Given the description of an element on the screen output the (x, y) to click on. 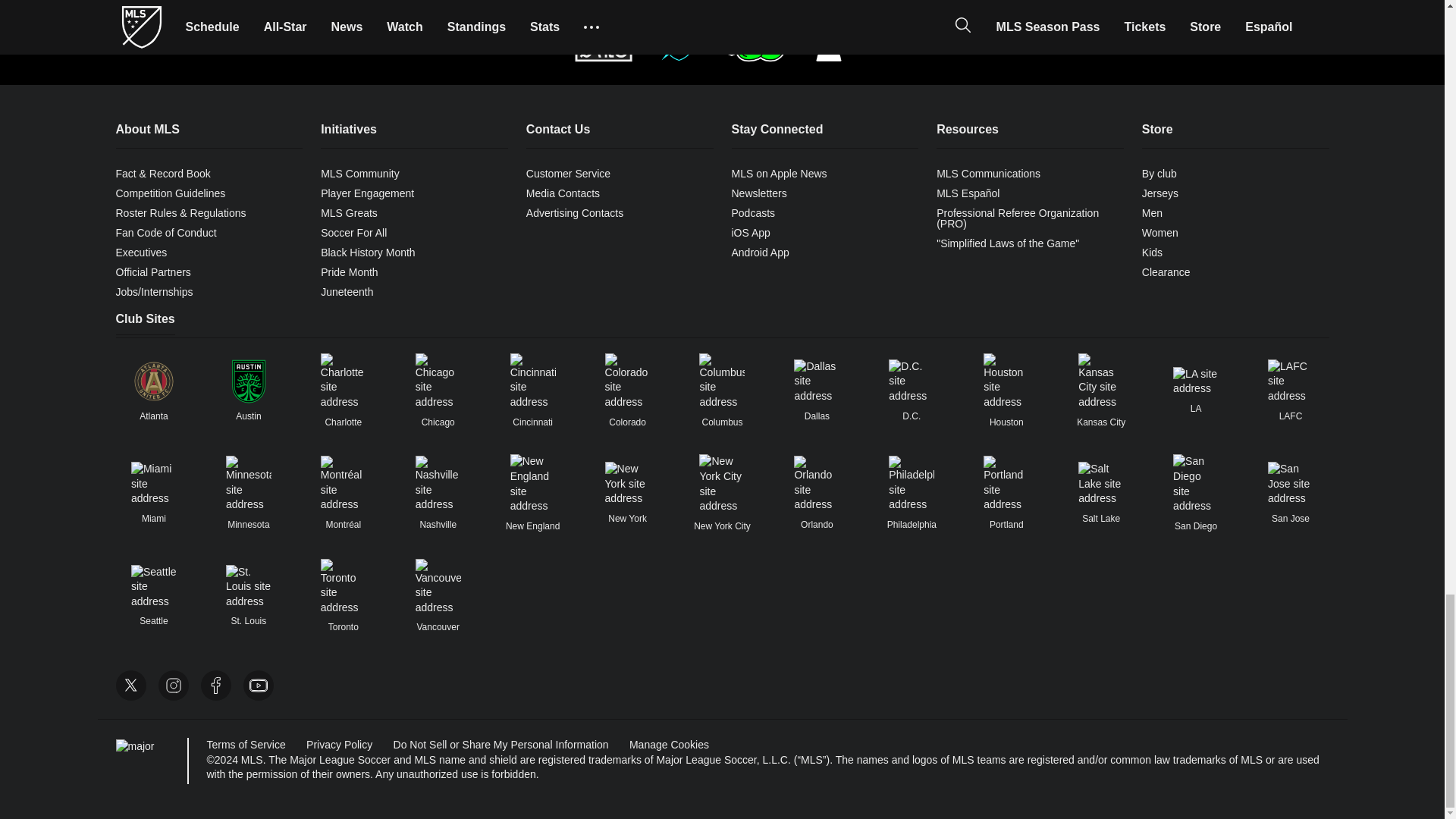
Link to Cincinnati (533, 381)
Link to Charlotte (343, 381)
Link to Atlanta (153, 381)
Link to Austin (247, 381)
Link to Chicago (437, 381)
Link to Colorado (627, 381)
